Given the description of an element on the screen output the (x, y) to click on. 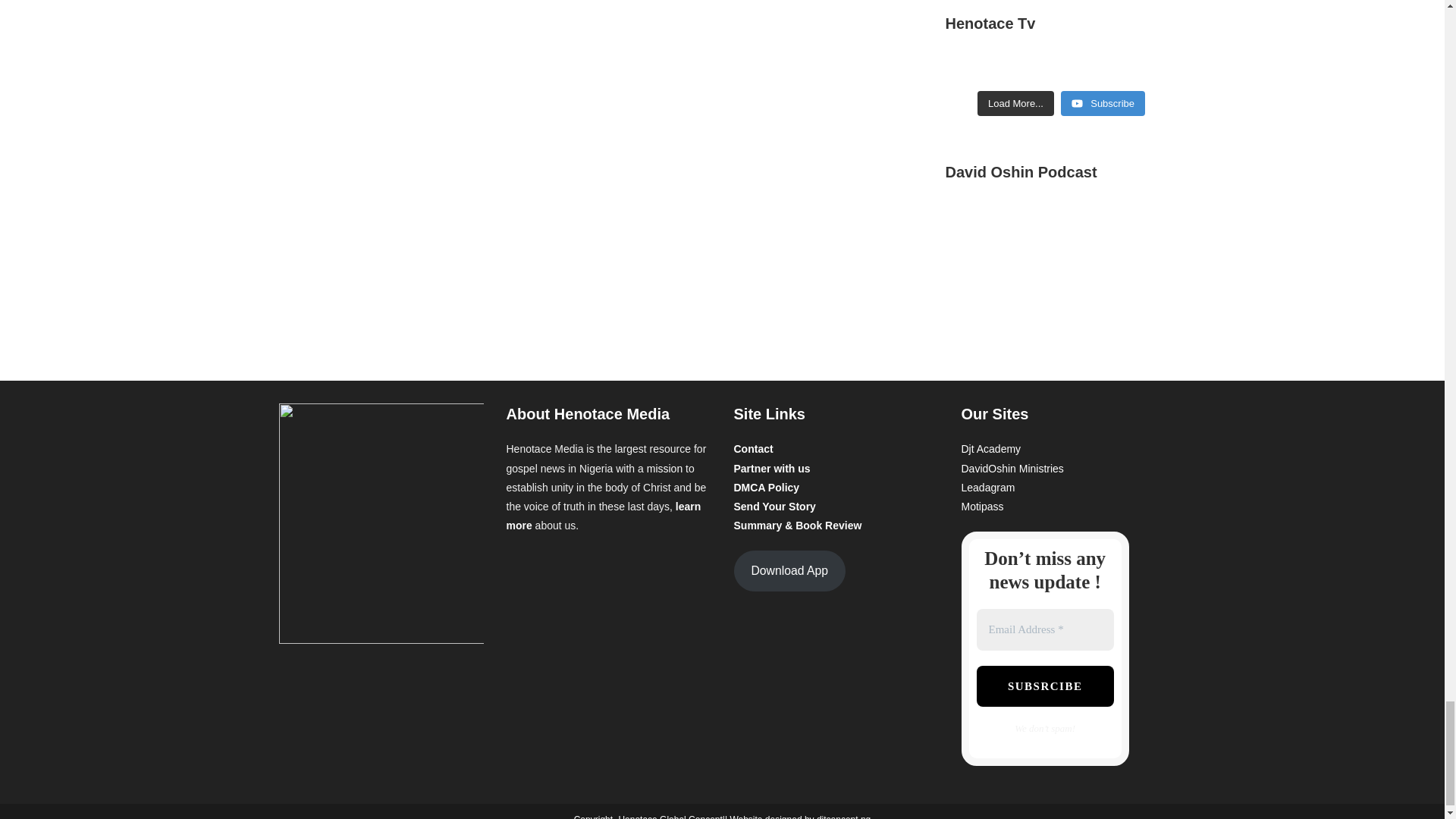
Subsrcibe (1044, 686)
Email Address (1044, 629)
Spotify Embed: David Oshin (1060, 262)
